Given the description of an element on the screen output the (x, y) to click on. 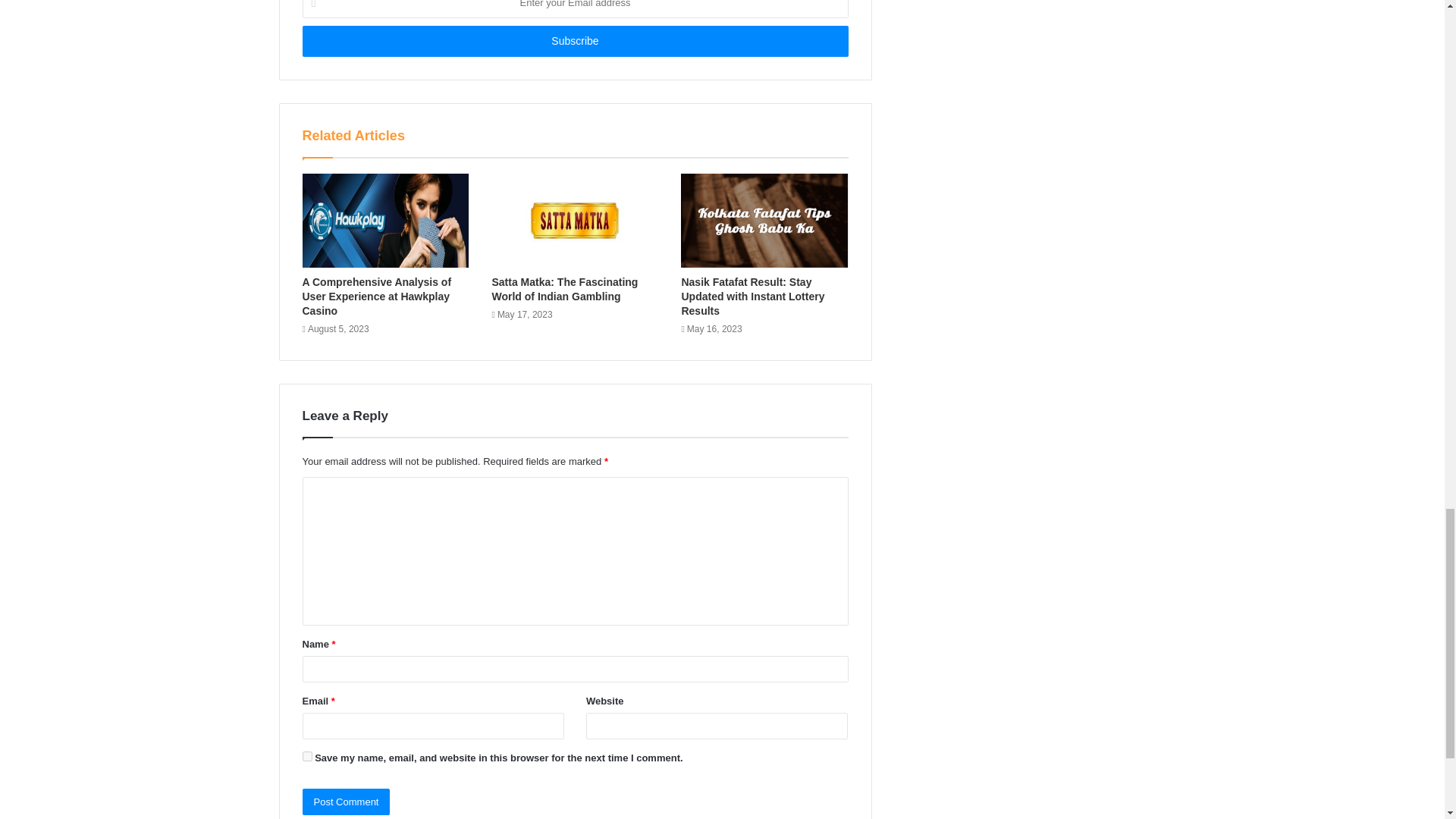
yes (306, 756)
Post Comment (345, 801)
Subscribe (574, 40)
